Given the description of an element on the screen output the (x, y) to click on. 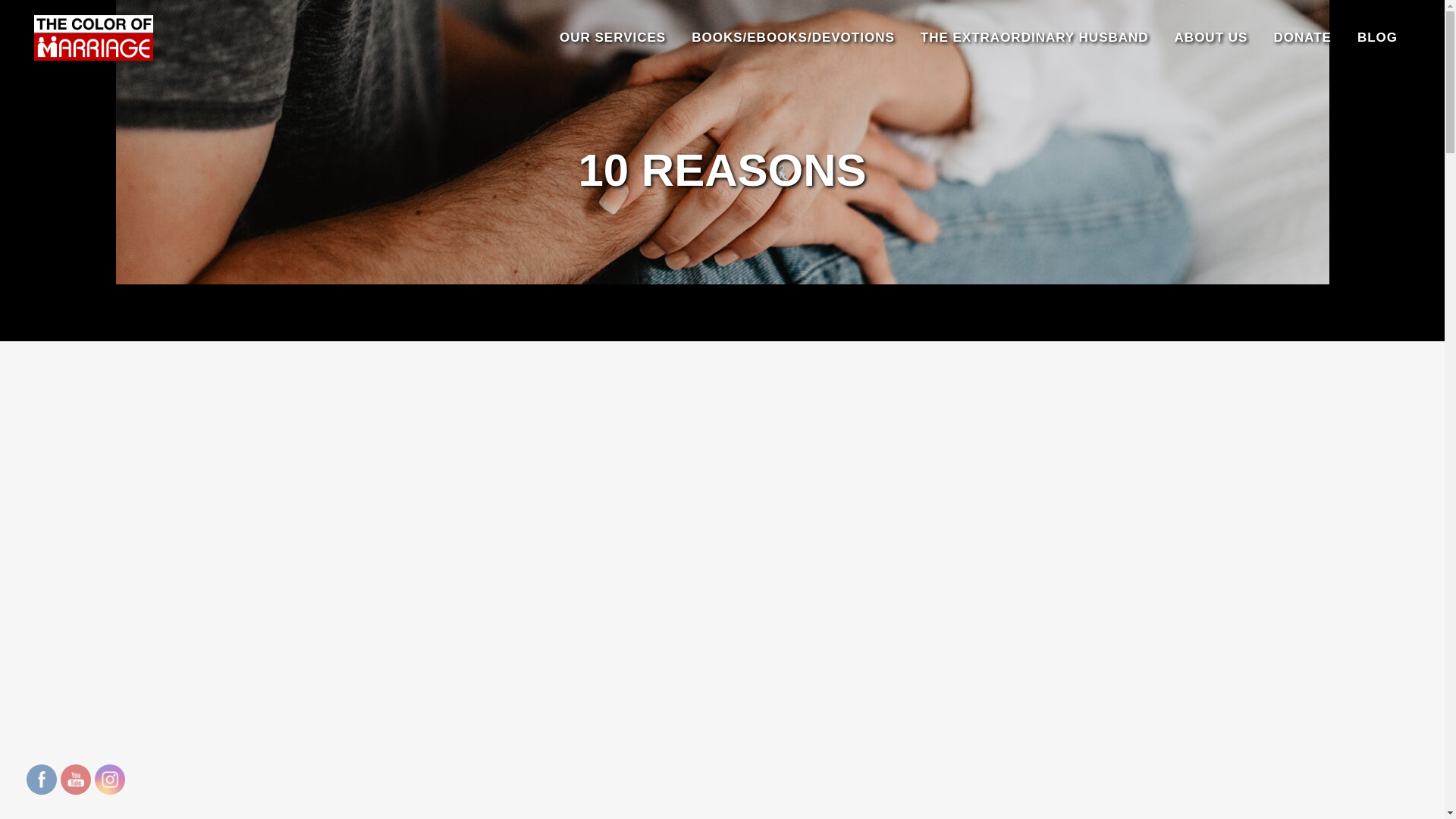
YouTube (75, 779)
DONATE (1301, 38)
Instagram (109, 779)
Facebook (41, 779)
ABOUT US (1210, 38)
OUR SERVICES (612, 38)
THE EXTRAORDINARY HUSBAND (1034, 38)
